Given the description of an element on the screen output the (x, y) to click on. 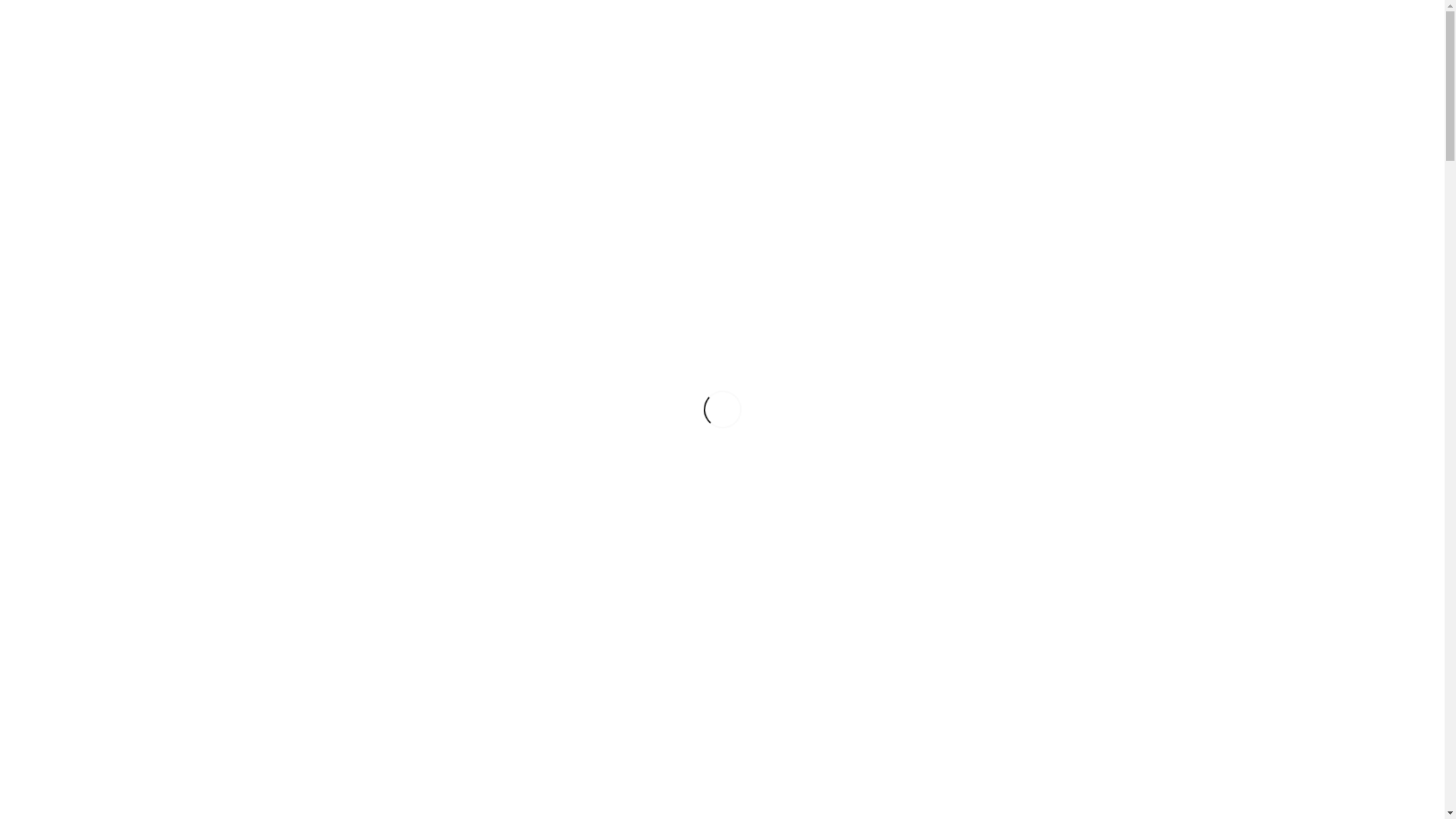
VER DEMO Element type: text (722, 173)
  Element type: text (721, 776)
